Given the description of an element on the screen output the (x, y) to click on. 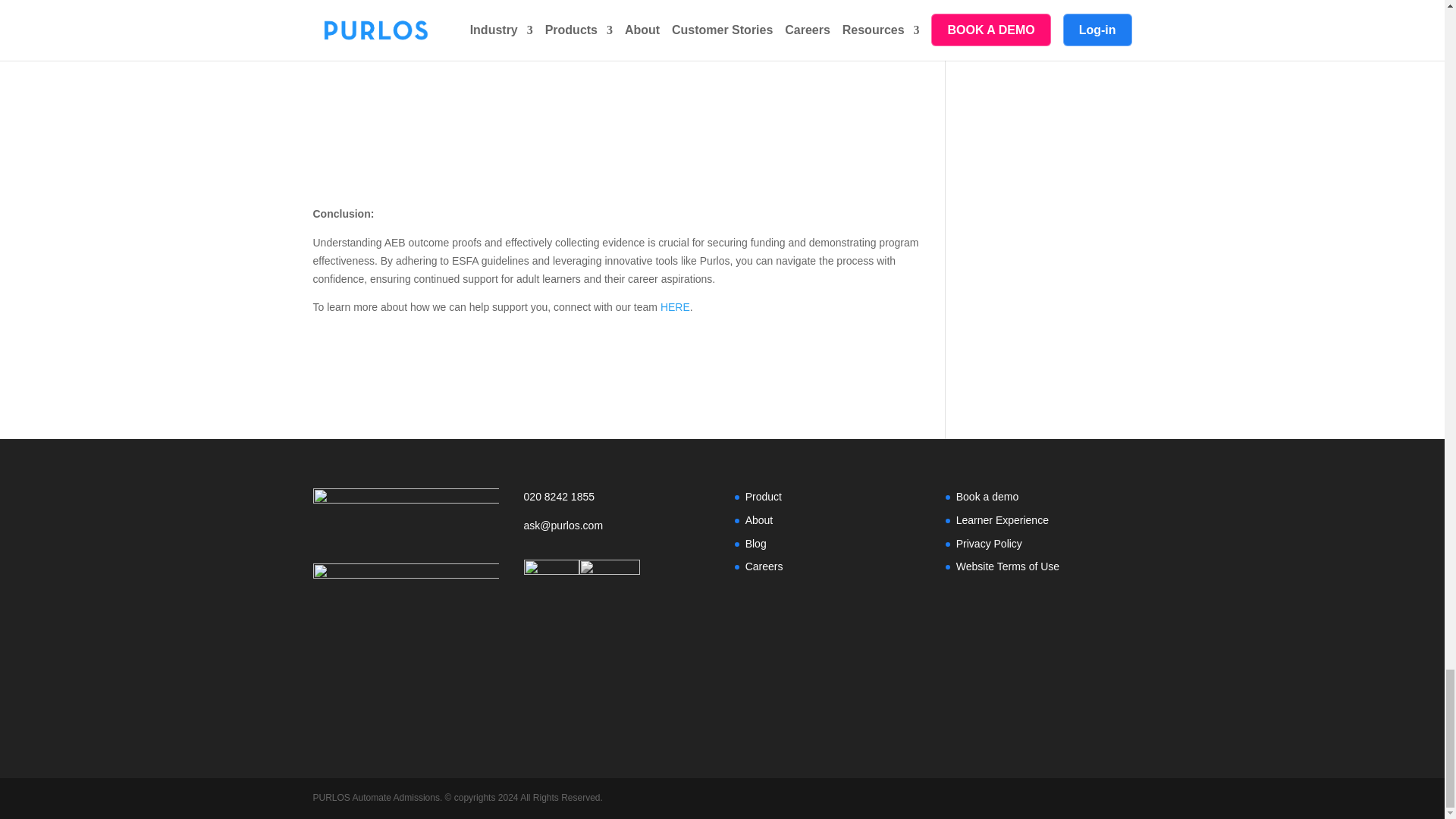
Website Terms of Use (1007, 566)
Learner Experience (1002, 520)
Product (763, 496)
Blog (756, 543)
HERE (675, 306)
Careers (764, 566)
Privacy Policy (989, 543)
Book a demo (987, 496)
020 8242 1855                      (590, 496)
About (759, 520)
